Given the description of an element on the screen output the (x, y) to click on. 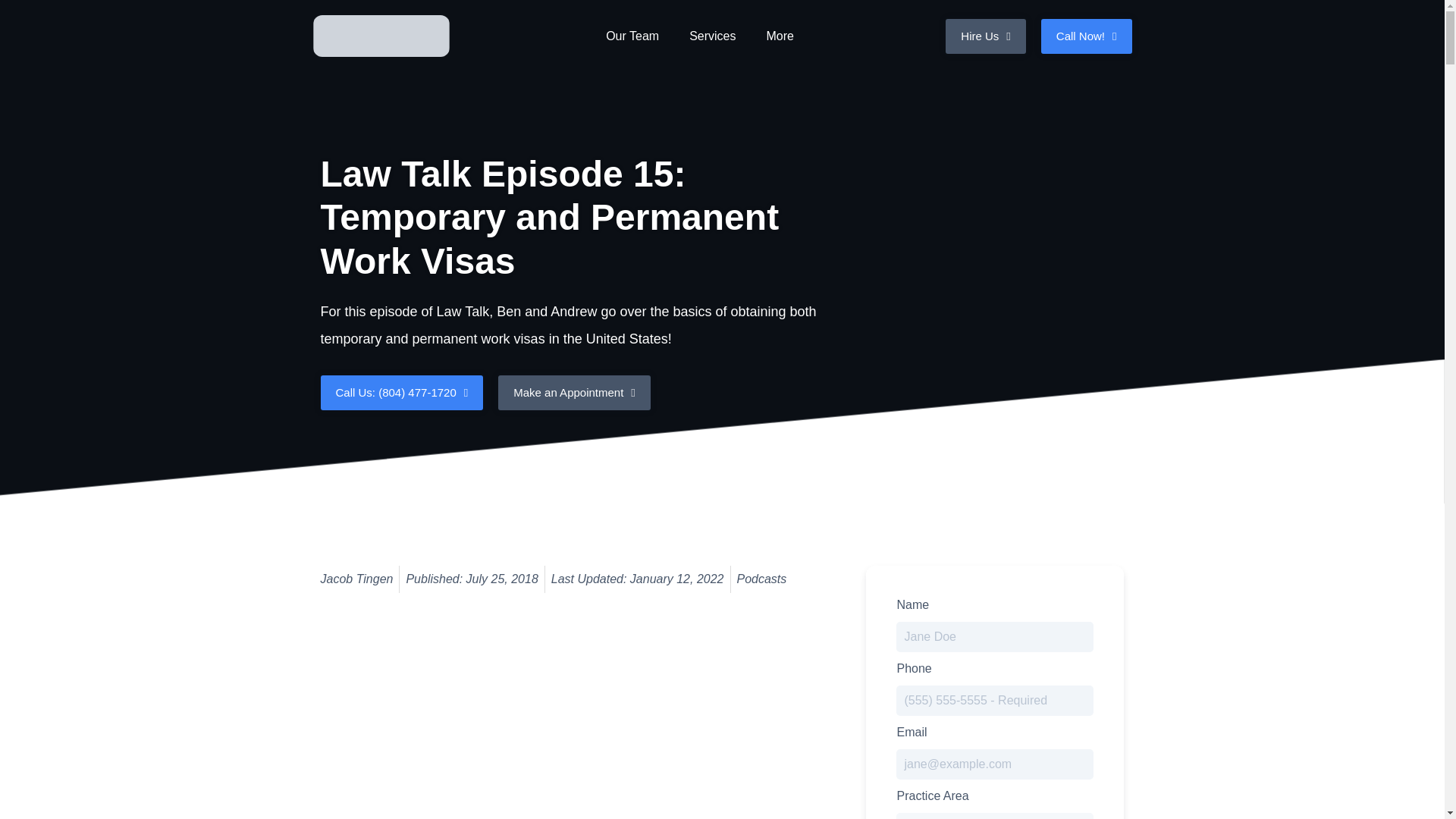
Call Now! (1086, 35)
Make an Appointment (573, 392)
More (779, 35)
Podcasts (761, 578)
Published: July 25, 2018 (471, 578)
Services (712, 35)
Our Team (632, 35)
Jacob Tingen (356, 578)
Hire Us (985, 35)
